Given the description of an element on the screen output the (x, y) to click on. 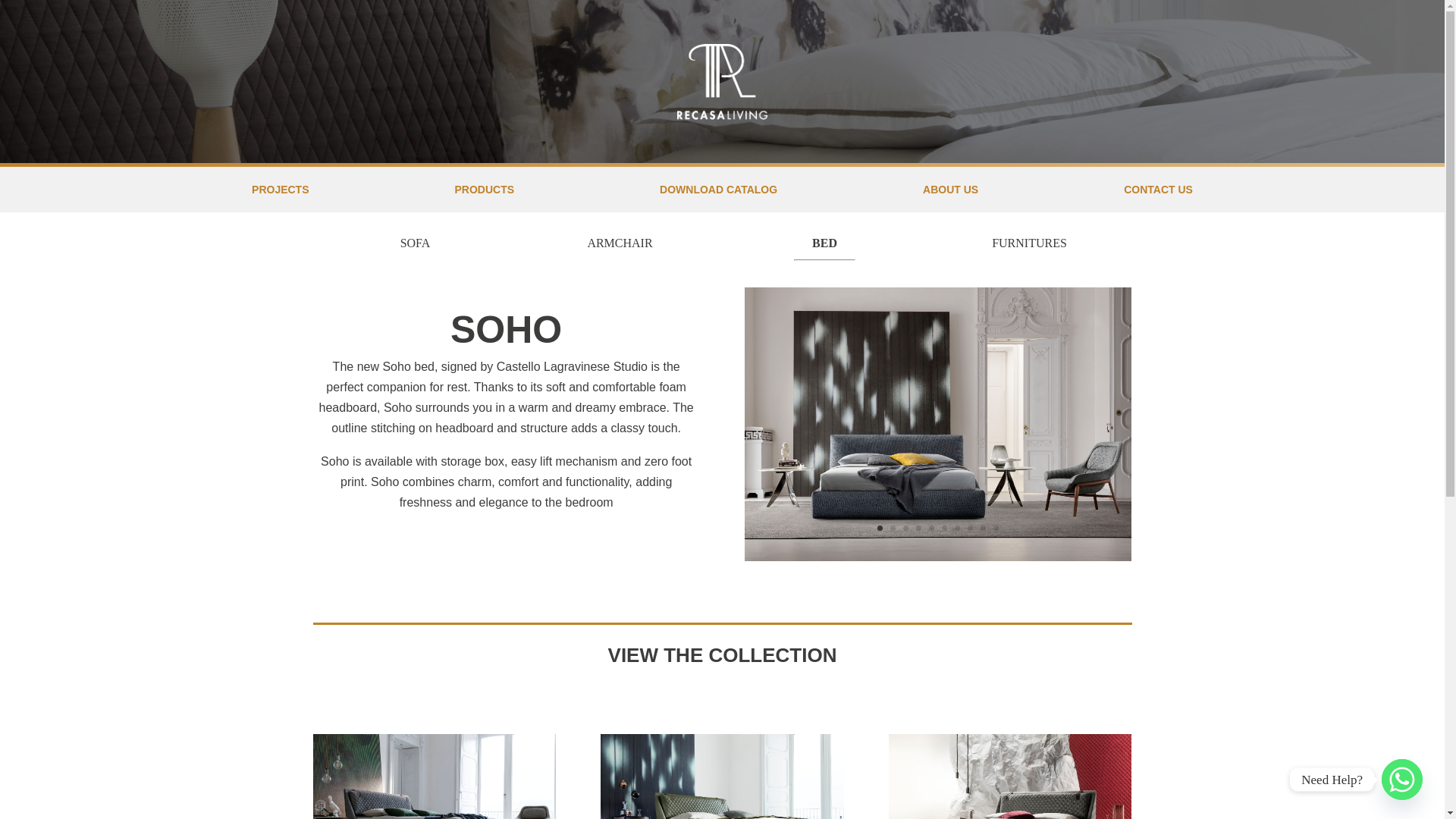
DOWNLOAD CATALOG (718, 189)
PROJECTS (280, 189)
ABOUT US (950, 189)
RECASALOGOFINALW (722, 81)
PRODUCTS (484, 189)
CONTACT US (1158, 189)
